Given the description of an element on the screen output the (x, y) to click on. 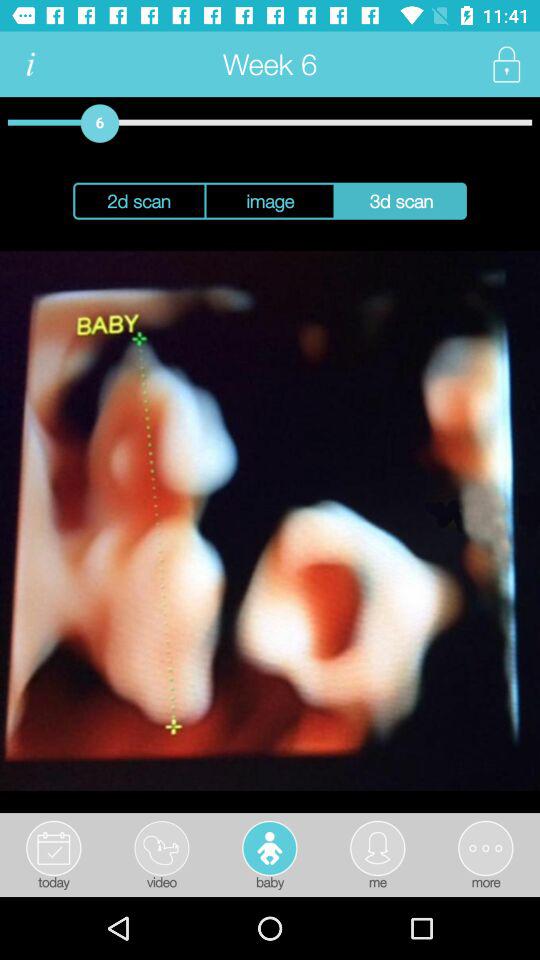
tap the item to the right of week 6 item (506, 63)
